Given the description of an element on the screen output the (x, y) to click on. 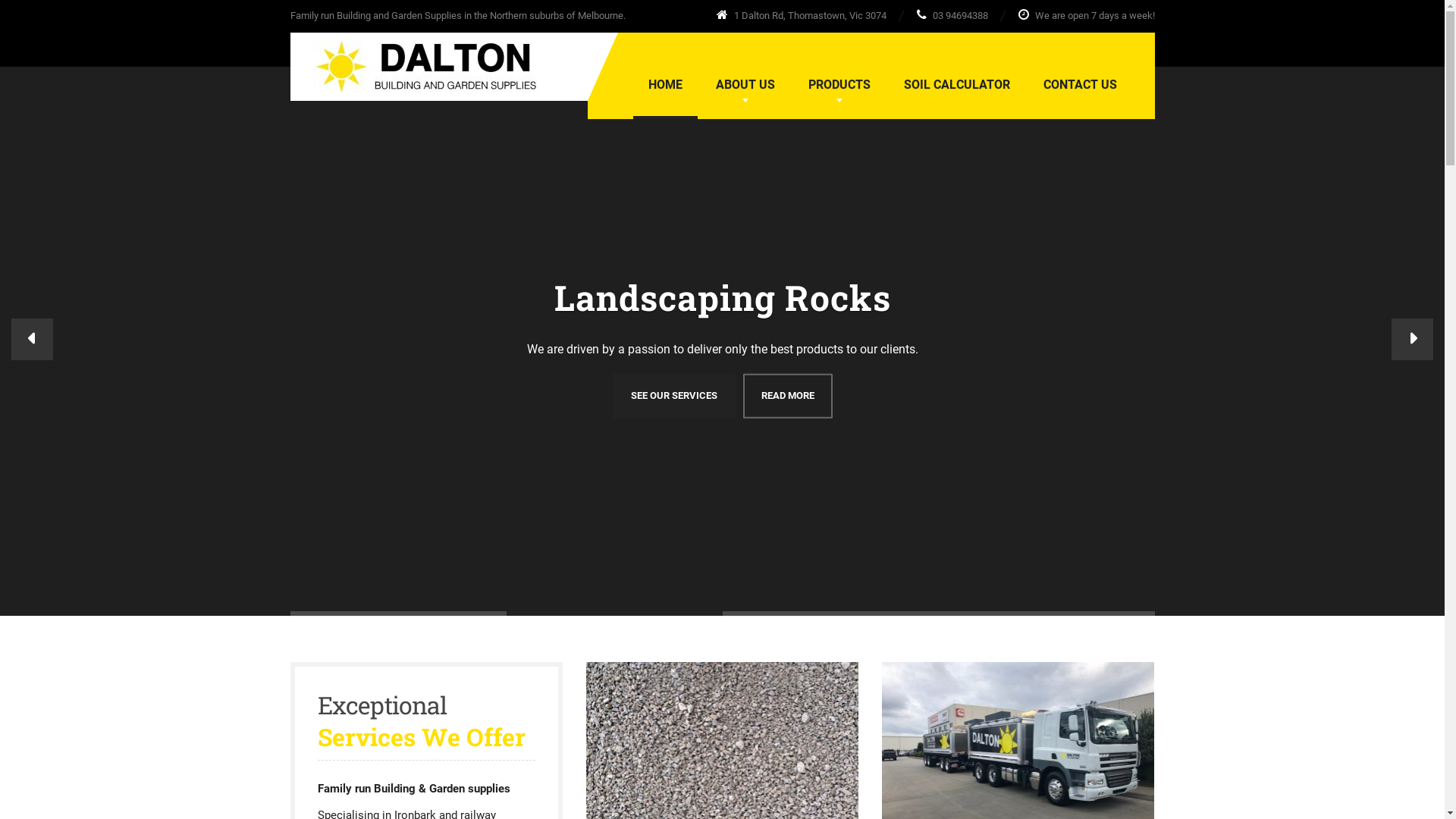
HOME Element type: text (664, 84)
CONTACT US Element type: text (1080, 84)
ABOUT US Element type: text (745, 84)
MORE ABOUT US Element type: text (631, 395)
03 94694388 Element type: text (951, 15)
GET IN TOUCH Element type: text (726, 395)
Building and Garden Supplies Element type: hover (414, 62)
PRODUCTS Element type: text (839, 84)
SOIL CALCULATOR Element type: text (956, 84)
